Given the description of an element on the screen output the (x, y) to click on. 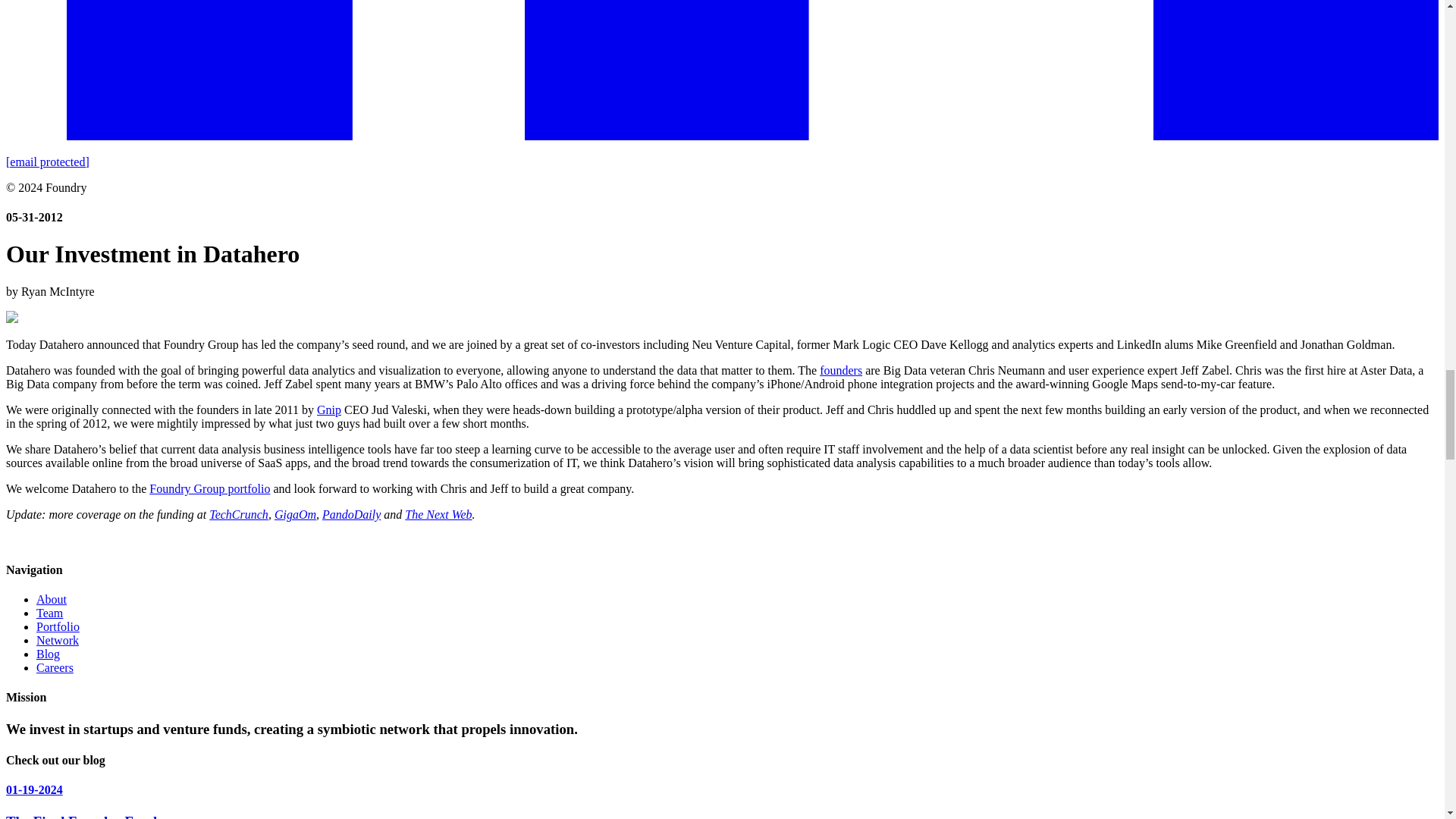
Portfolio (58, 626)
Gnip (328, 409)
Foundry Group portfolio (209, 488)
Blog (47, 653)
GigaOm (295, 513)
About (51, 599)
Network (57, 640)
Team (49, 612)
The Next Web (437, 513)
founders (840, 369)
Careers (55, 667)
TechCrunch (238, 513)
PandoDaily (350, 513)
